Given the description of an element on the screen output the (x, y) to click on. 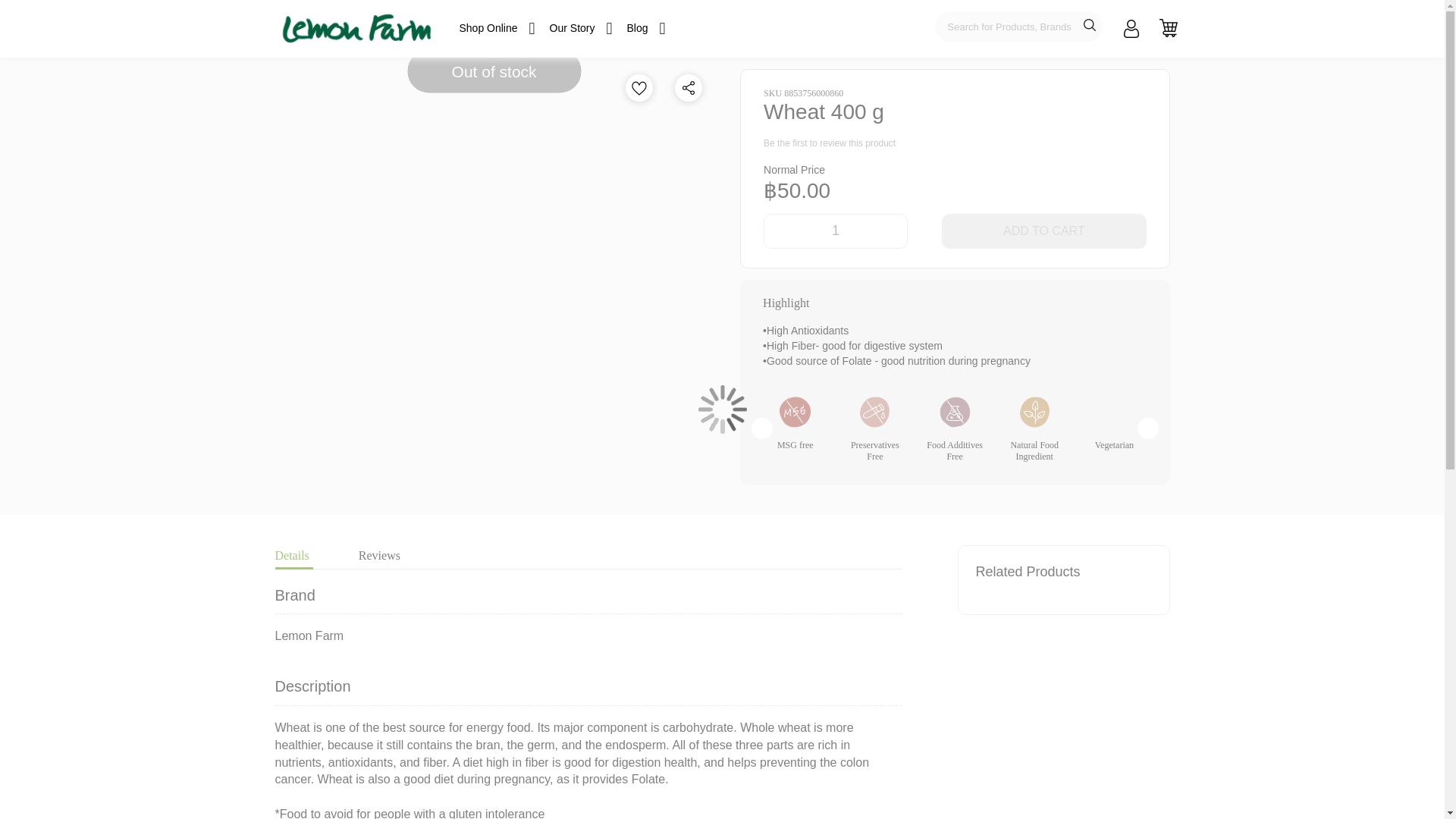
My Cart (1167, 27)
Shop Online (490, 28)
1 (835, 230)
Qty (835, 230)
Availability (493, 70)
